Given the description of an element on the screen output the (x, y) to click on. 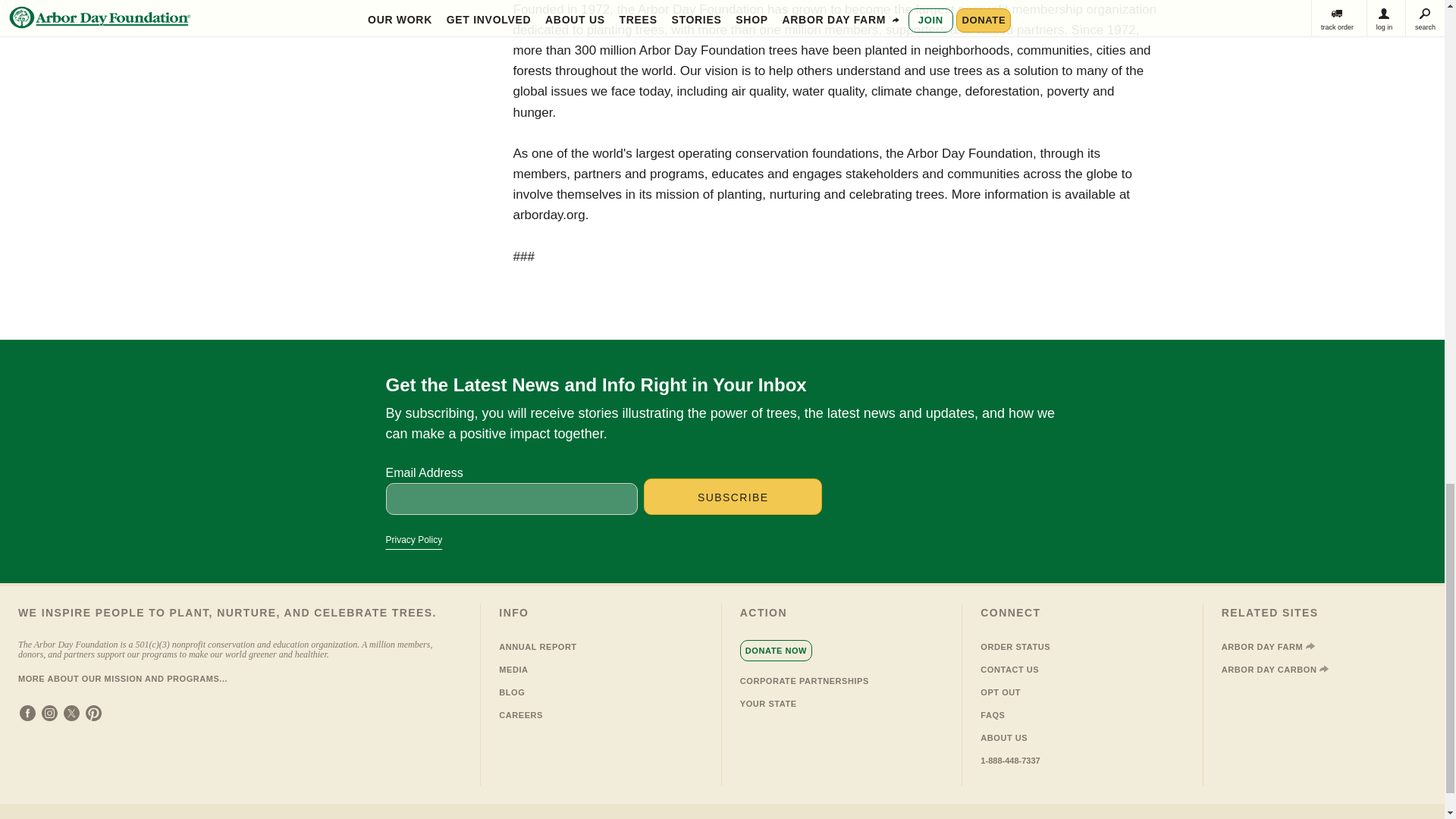
Subscribe (732, 496)
